Given the description of an element on the screen output the (x, y) to click on. 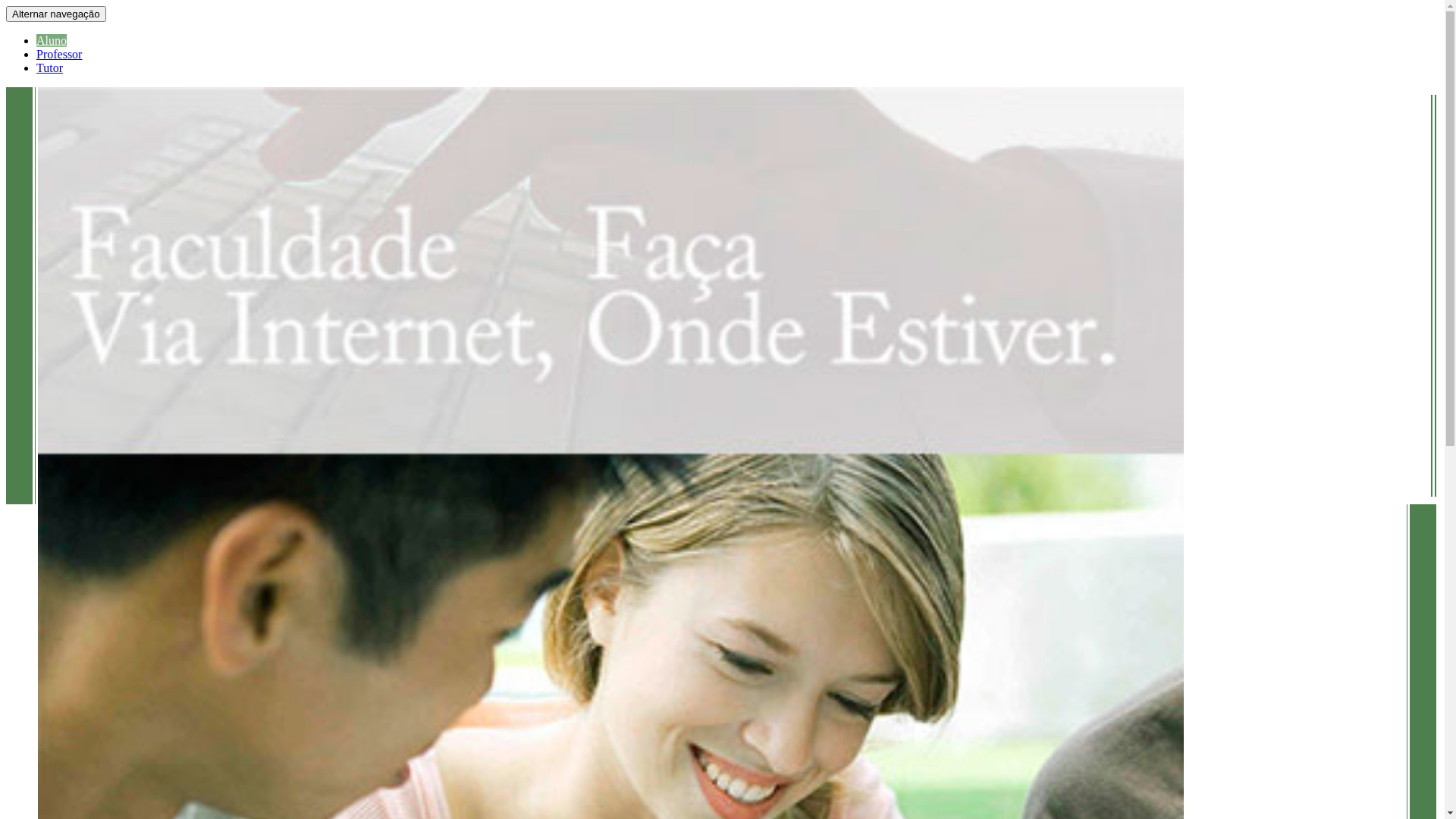
Professor Element type: text (58, 53)
Tutor Element type: text (49, 67)
Aluno Element type: text (51, 40)
